Given the description of an element on the screen output the (x, y) to click on. 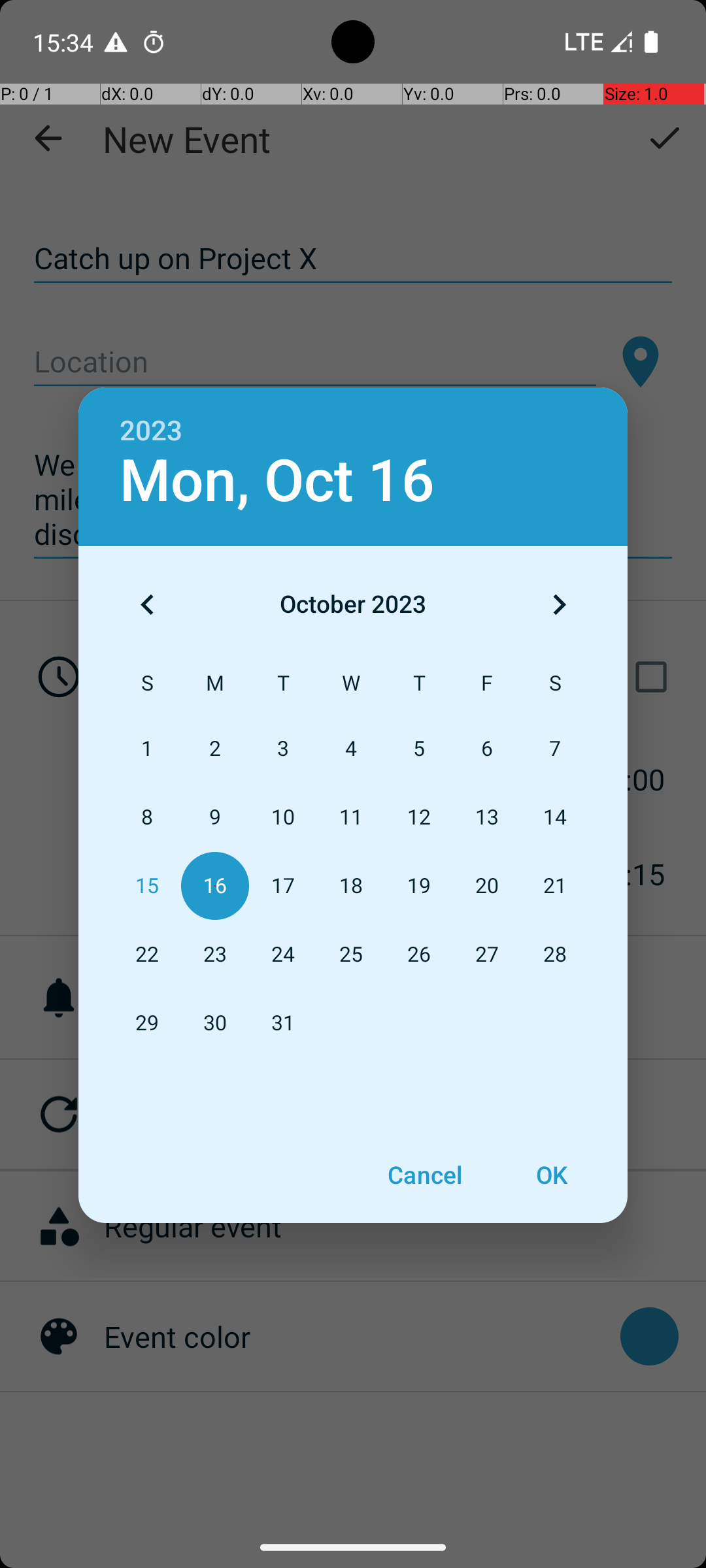
Mon, Oct 16 Element type: android.widget.TextView (276, 480)
